Given the description of an element on the screen output the (x, y) to click on. 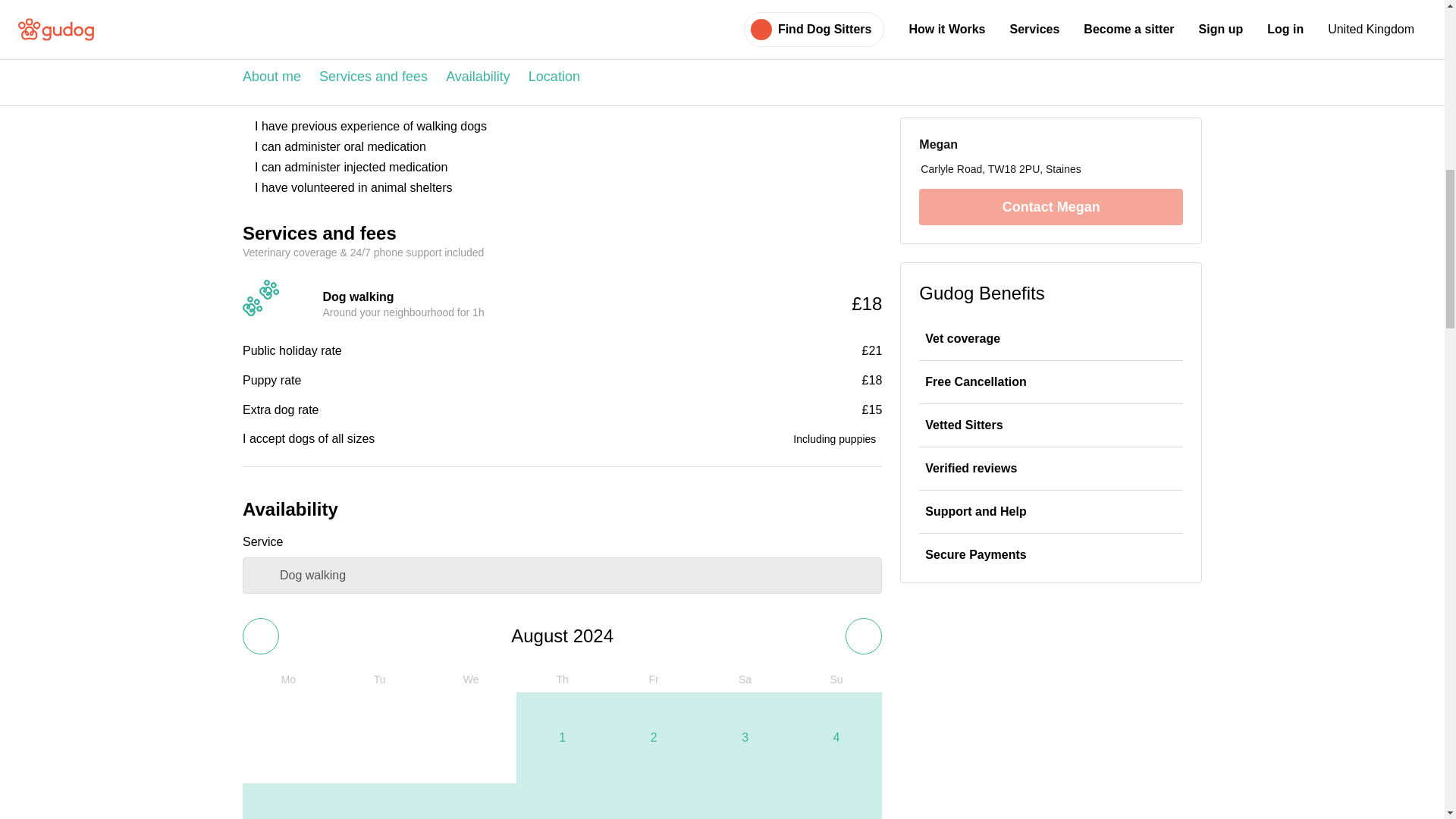
Dog walking (562, 575)
Sunday (836, 679)
Wednesday (471, 679)
Saturday (744, 679)
Thursday (561, 679)
Monday (288, 679)
Tuesday (379, 679)
